Given the description of an element on the screen output the (x, y) to click on. 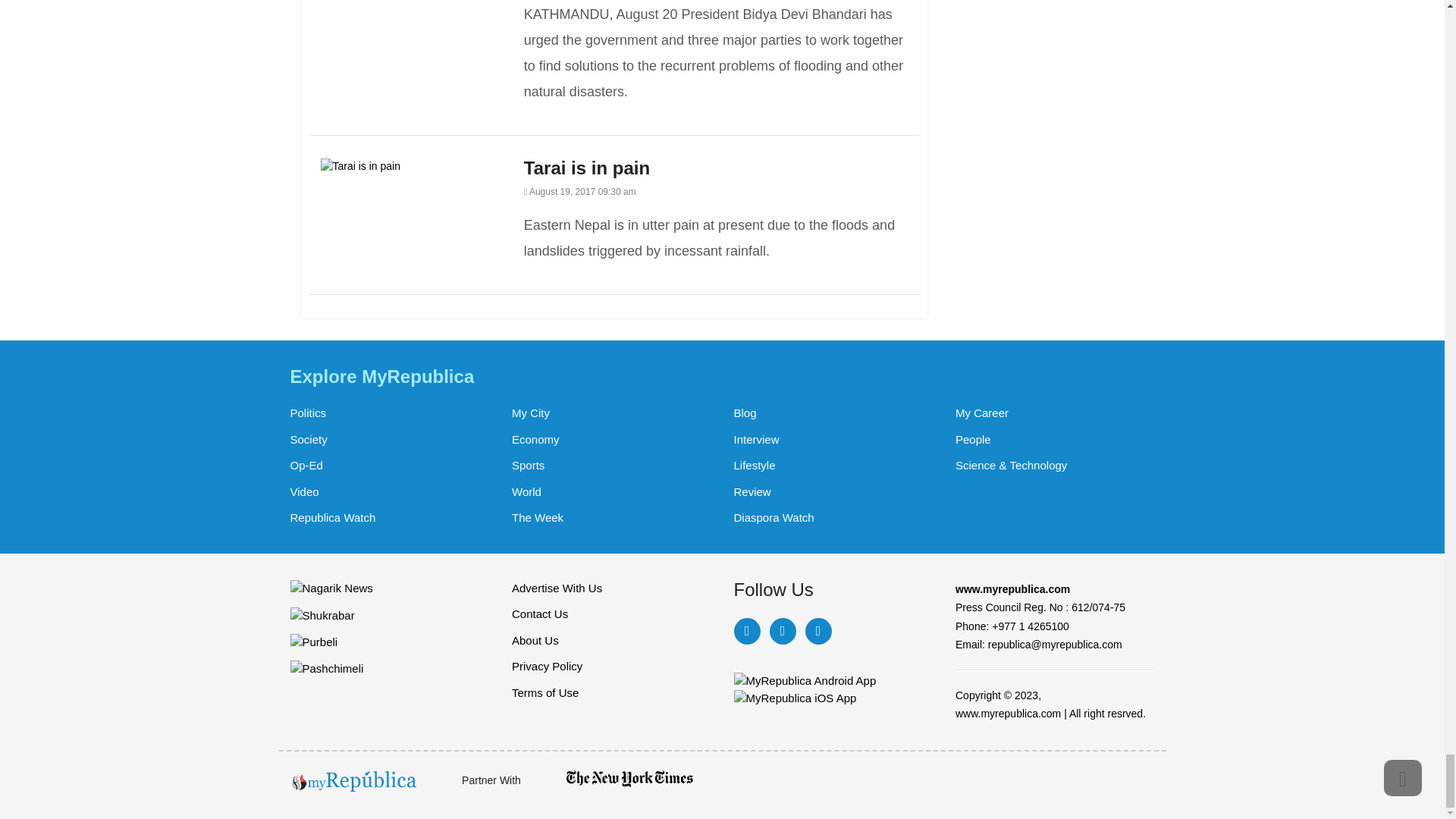
Facebook (746, 631)
Twitter (781, 631)
Youtube (818, 631)
